Given the description of an element on the screen output the (x, y) to click on. 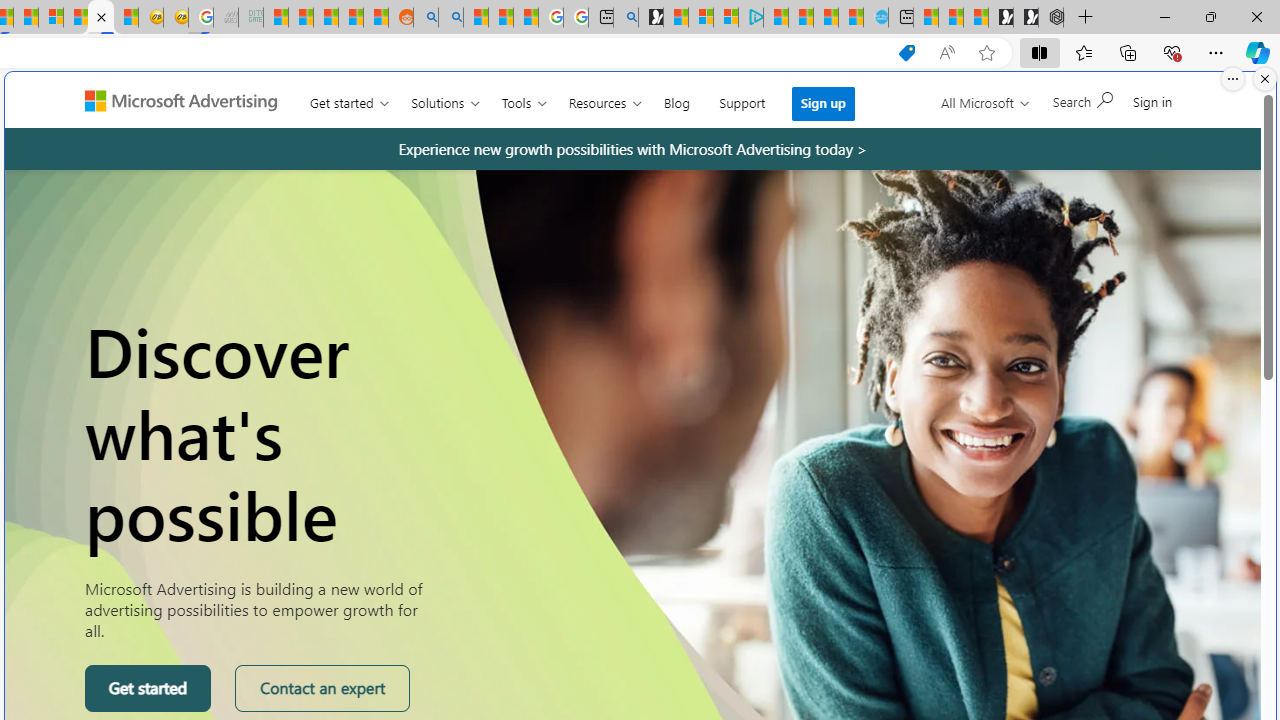
Student Loan Update: Forgiveness Program Ends This Month (351, 17)
Get started (148, 688)
Microsoft account | Privacy (726, 17)
Blog (676, 98)
Sign in (1152, 101)
Split screen (1039, 52)
Restore (1210, 16)
Nordace - Nordace Siena Is Not An Ordinary Backpack (1051, 17)
